Given the description of an element on the screen output the (x, y) to click on. 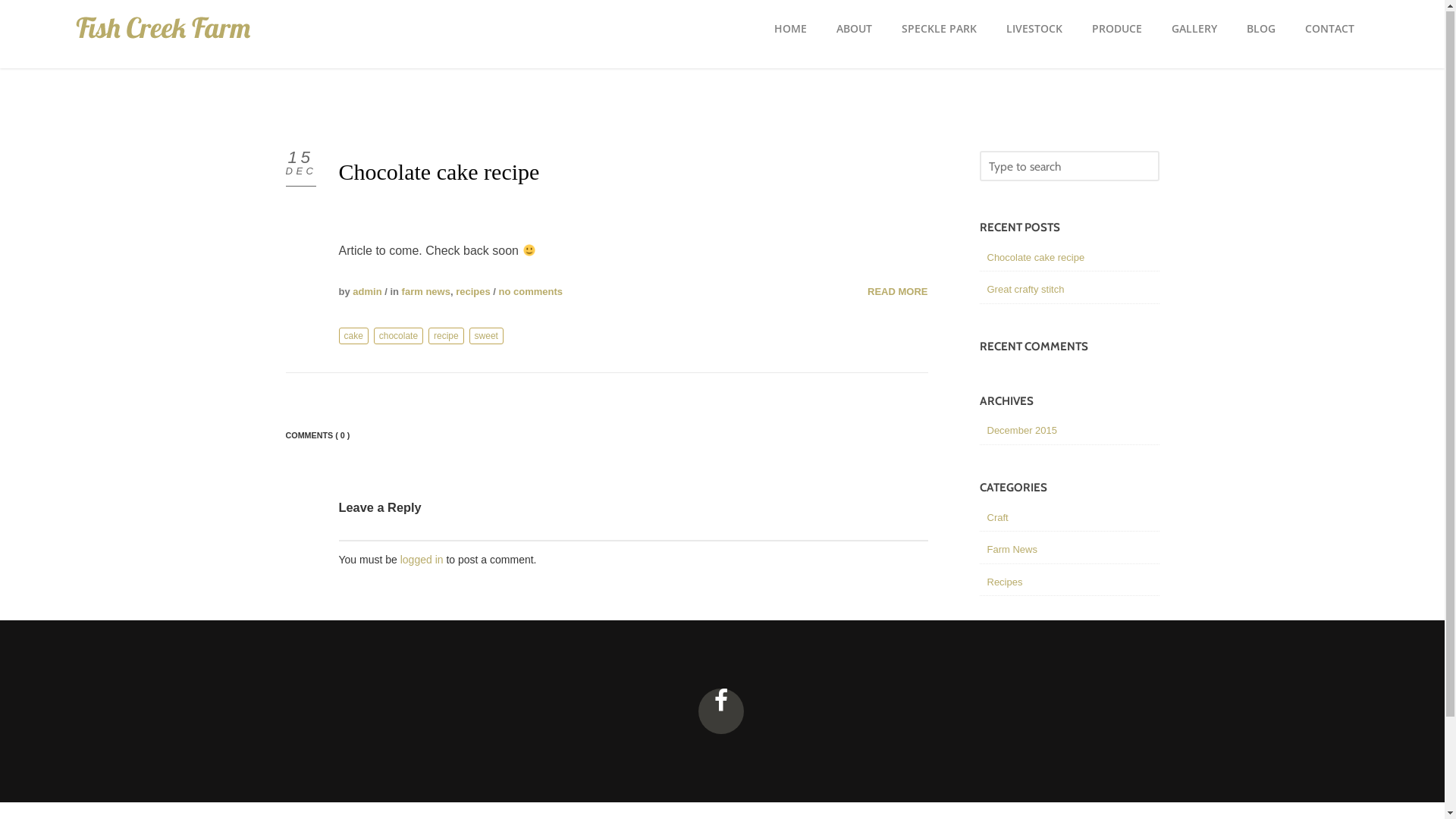
recipe Element type: text (446, 336)
Chocolate cake recipe Element type: text (438, 172)
BLOG Element type: text (1260, 30)
December 2015 Element type: text (1022, 430)
logged in Element type: text (421, 560)
Craft Element type: text (997, 518)
PRODUCE Element type: text (1115, 30)
ABOUT Element type: text (853, 30)
CONTACT Element type: text (1328, 30)
no comments Element type: text (530, 292)
Chocolate cake recipe Element type: text (1036, 257)
HOME Element type: text (789, 30)
Great crafty stitch Element type: text (1025, 289)
Search Element type: text (115, 240)
sweet Element type: text (486, 336)
GALLERY Element type: text (1193, 30)
Recipes Element type: text (1004, 582)
cake Element type: text (352, 336)
READ MORE Element type: text (897, 292)
SPECKLE PARK Element type: text (938, 30)
chocolate Element type: text (398, 336)
Farm News Element type: text (1012, 549)
admin Element type: text (366, 292)
farm news Element type: text (425, 292)
LIVESTOCK Element type: text (1033, 30)
recipes Element type: text (472, 292)
